Given the description of an element on the screen output the (x, y) to click on. 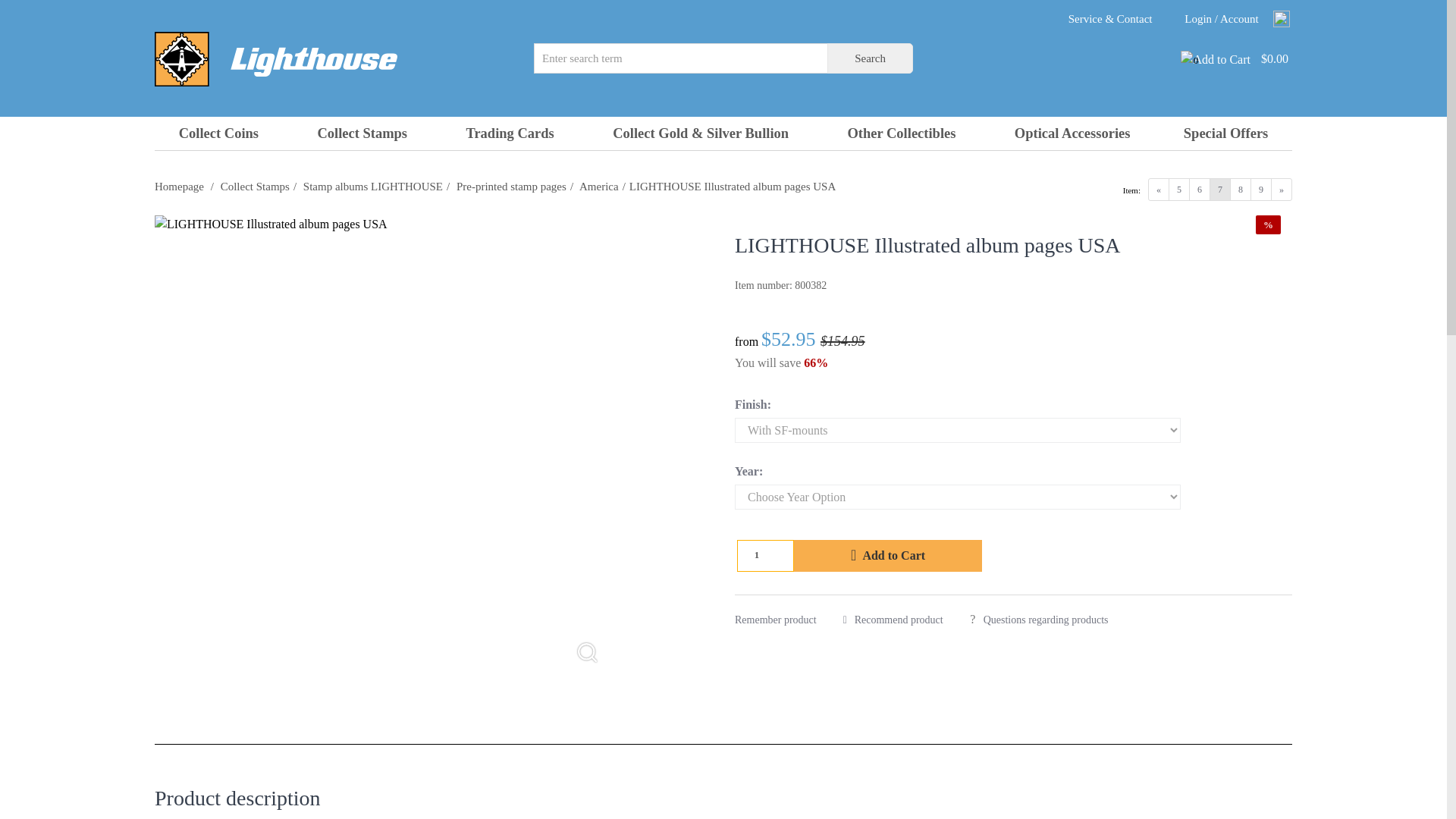
Stamp albums LIGHTHOUSE (372, 186)
Special Offers (1225, 133)
To home page (178, 186)
Homepage (275, 57)
Optical Accessories (1071, 133)
Special Offers (1225, 133)
Collect Stamps (362, 133)
6 (1199, 189)
Homepage (178, 186)
Collect Stamps (255, 186)
5 (1179, 189)
Collect Coins (221, 133)
America (598, 186)
Other Collectibles (901, 133)
Other Collectibles (901, 133)
